Given the description of an element on the screen output the (x, y) to click on. 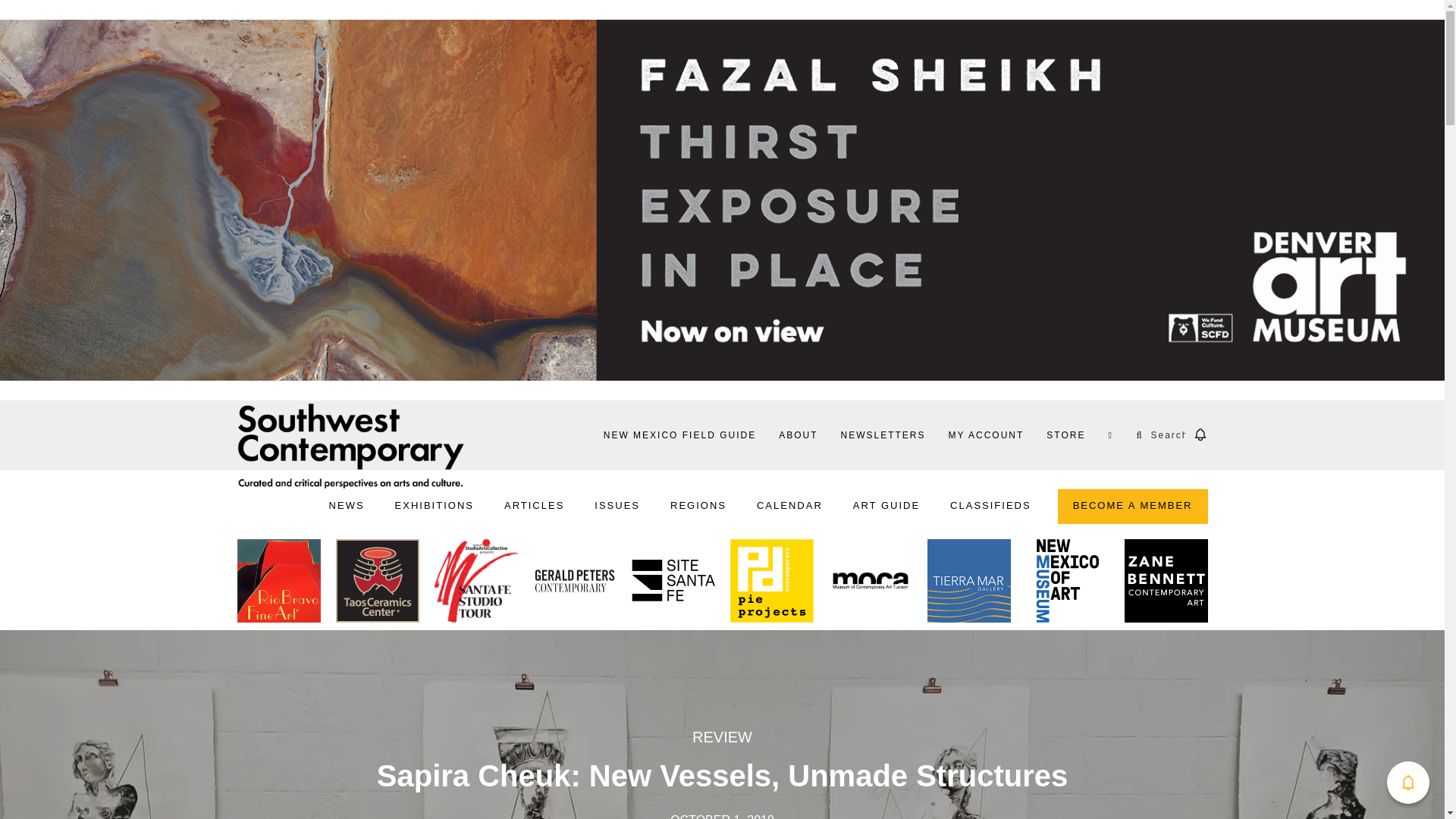
Southwest Contemporary (349, 445)
ARTICLES (533, 506)
Gerald Peters Contemporary Logo (573, 583)
RioBravoFineArt Gallery Logo (277, 583)
ABOUT (797, 435)
ISSUES (617, 506)
Zane Bennett: logo tile (1165, 583)
Santa Fe Studio Arts Collective Logo (474, 583)
EXHIBITIONS (434, 506)
Taos Ceramics Center Logo (376, 583)
New Mexico Museum of Art Logo (1066, 583)
STORE (1065, 435)
Tierra Mar Gallery Logo  (968, 583)
MY ACCOUNT (986, 435)
